Given the description of an element on the screen output the (x, y) to click on. 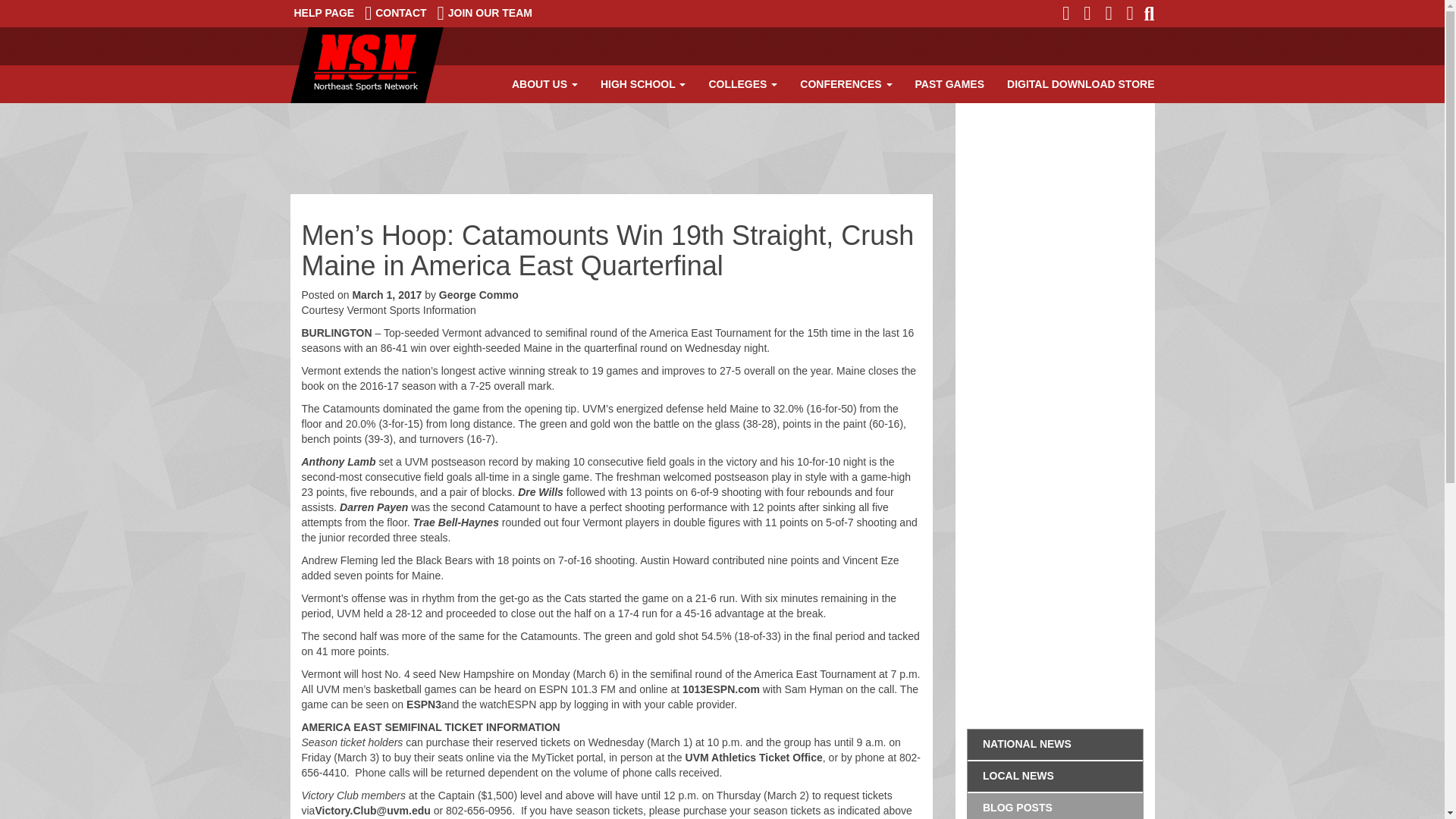
CONTACT (395, 12)
COLLEGES (743, 84)
About Us (544, 84)
ABOUT US (544, 84)
High School (643, 84)
HELP PAGE (323, 12)
HIGH SCHOOL (643, 84)
Home (365, 65)
JOIN OUR TEAM (484, 12)
